Given the description of an element on the screen output the (x, y) to click on. 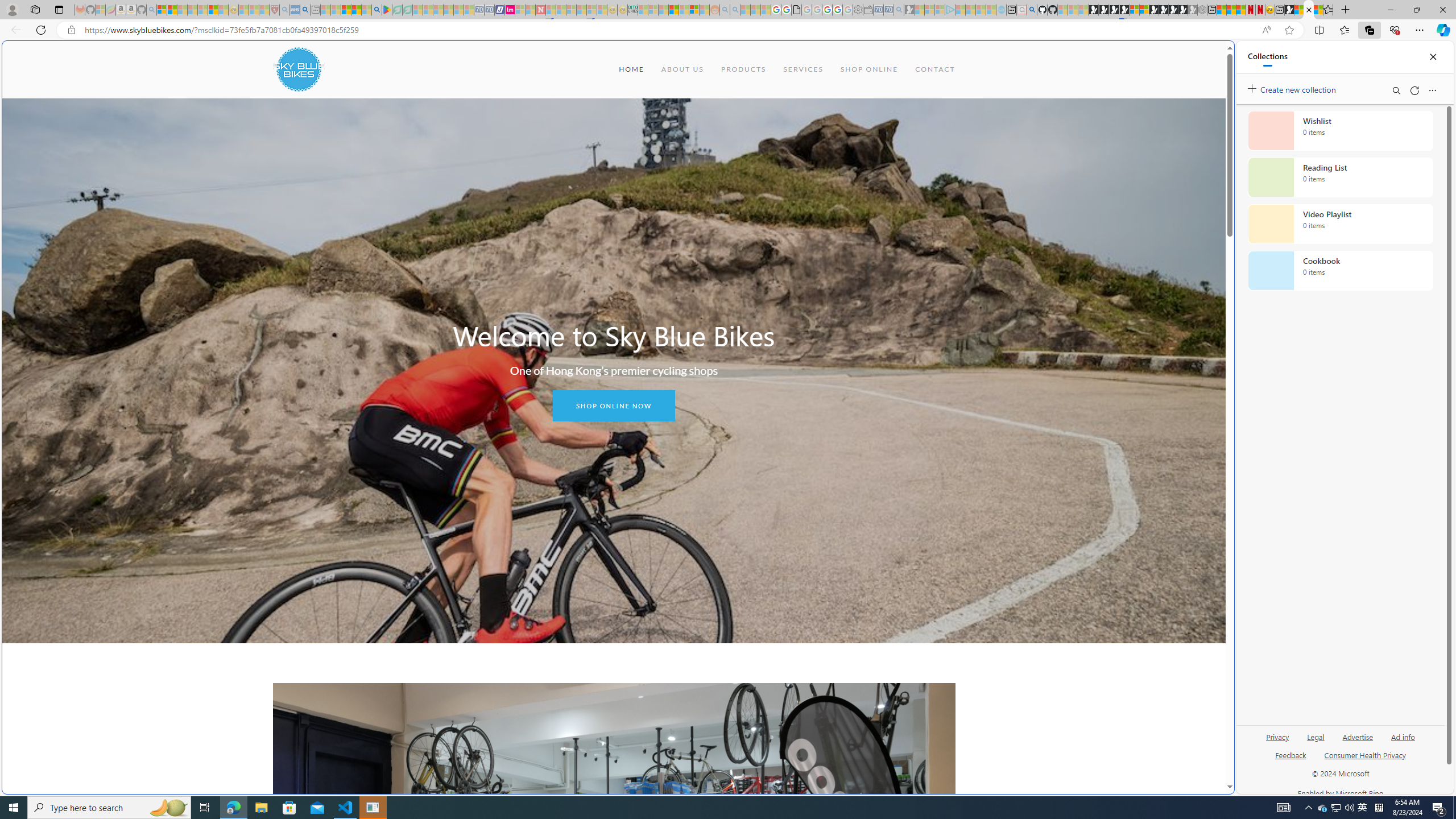
Sign in to your account (1134, 9)
Bluey: Let's Play! - Apps on Google Play (387, 9)
Create new collection (1293, 87)
